Given the description of an element on the screen output the (x, y) to click on. 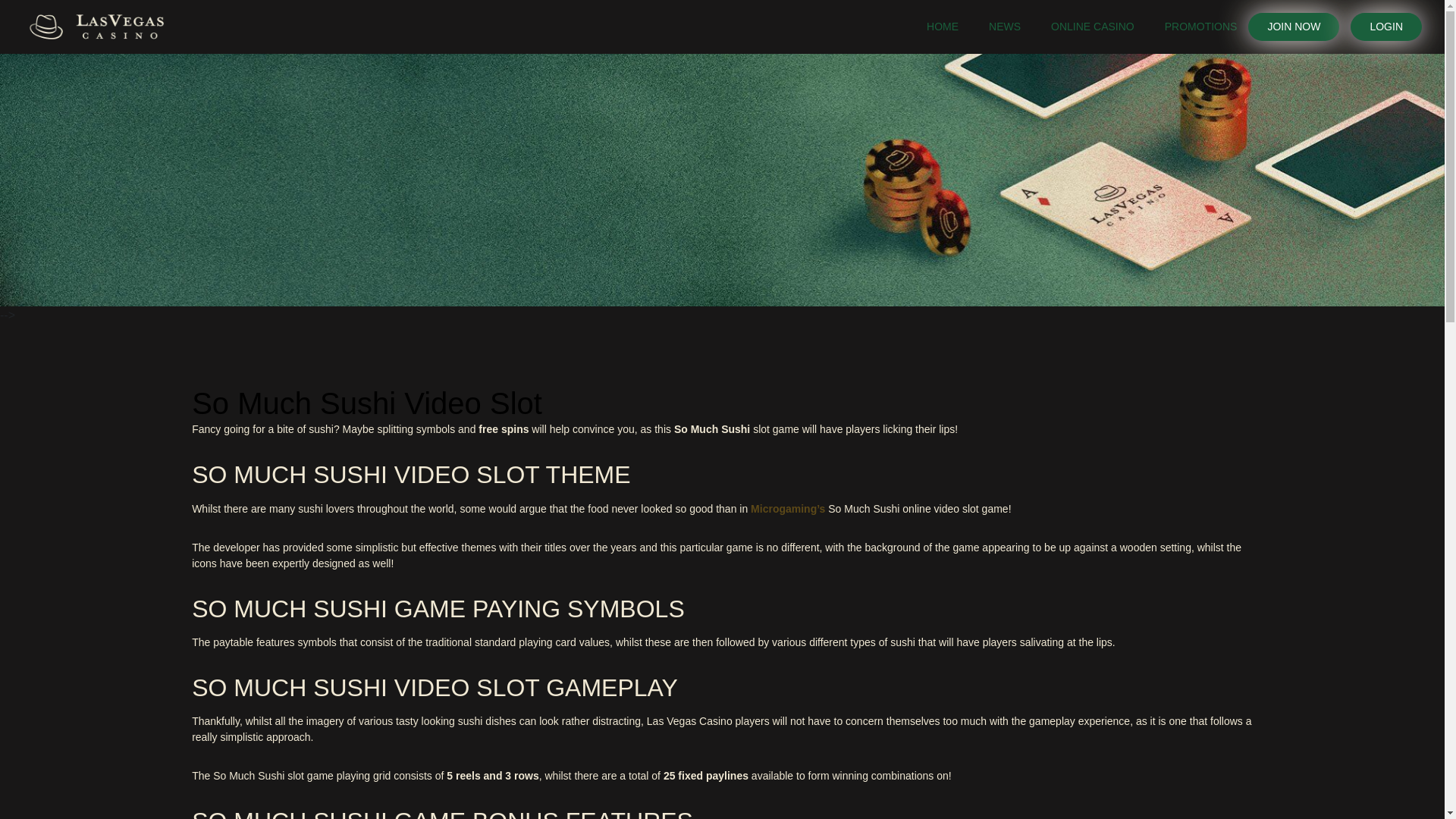
ONLINE CASINO (1092, 26)
Join Now (1293, 26)
LOGIN (1386, 26)
HOME (942, 26)
PROMOTIONS (1200, 26)
NEWS (1004, 26)
login (1386, 26)
JOIN NOW (1293, 26)
